Given the description of an element on the screen output the (x, y) to click on. 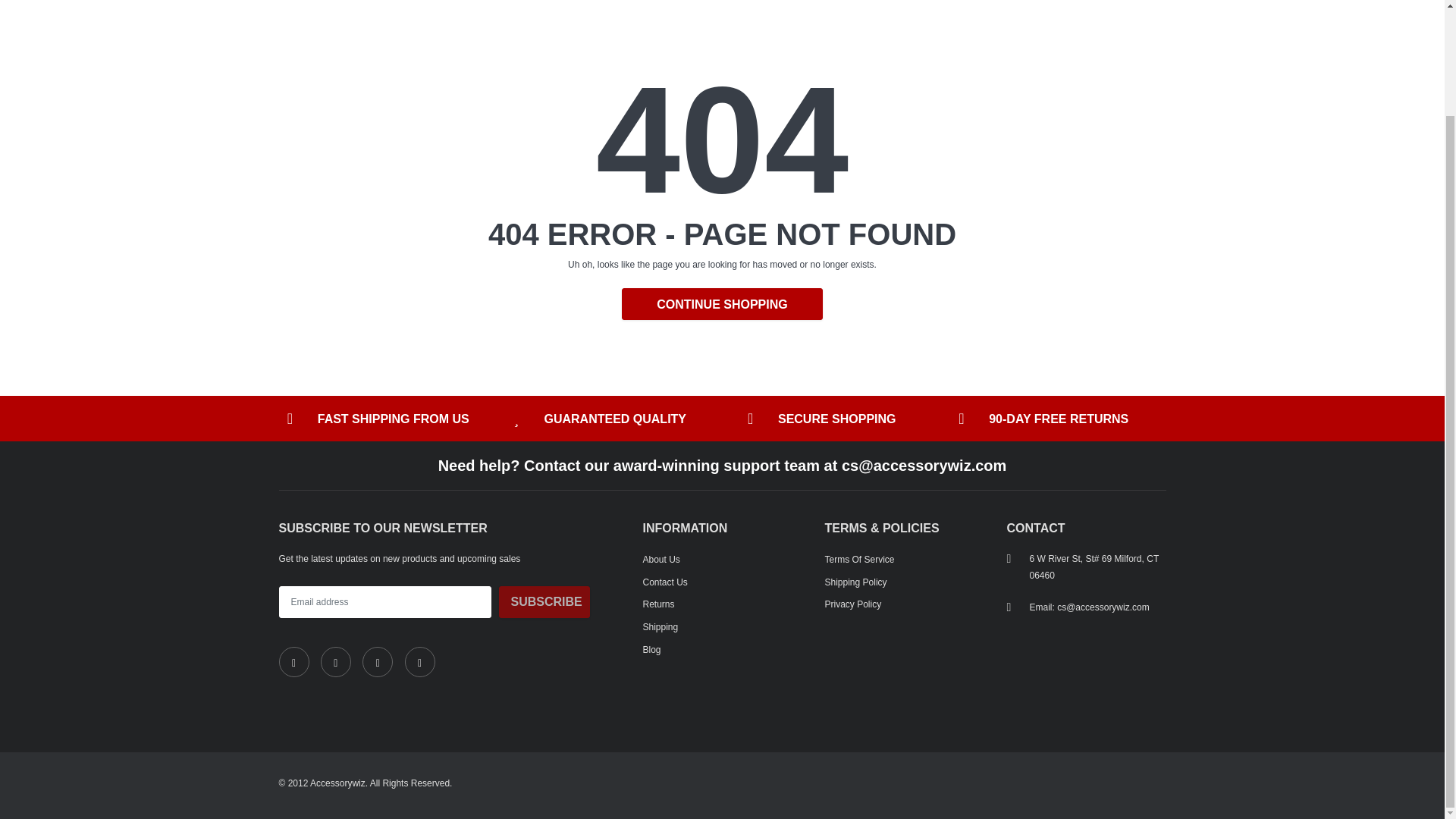
Facebook (293, 662)
Pinterest (419, 662)
Subscribe (544, 602)
Instagram (377, 662)
Twitter (335, 662)
